Given the description of an element on the screen output the (x, y) to click on. 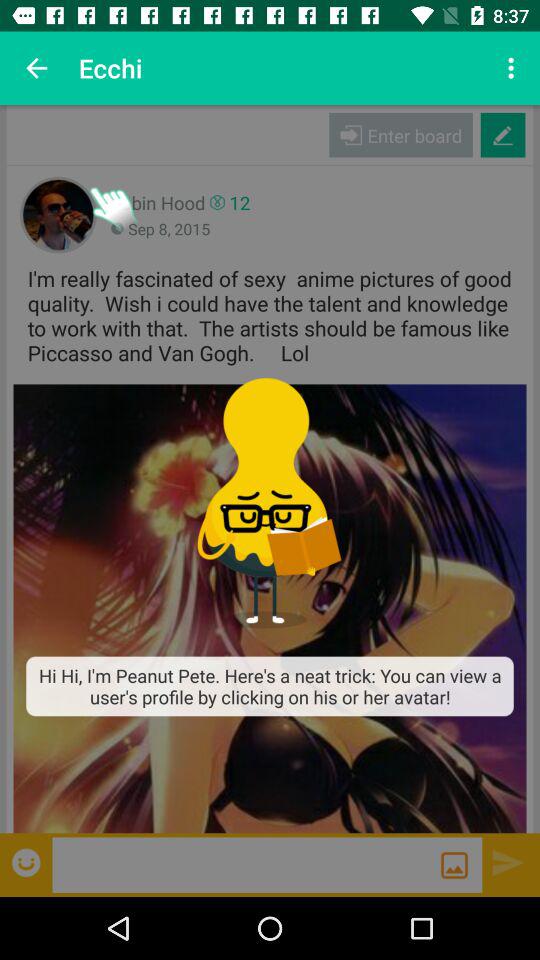
image option (454, 865)
